Given the description of an element on the screen output the (x, y) to click on. 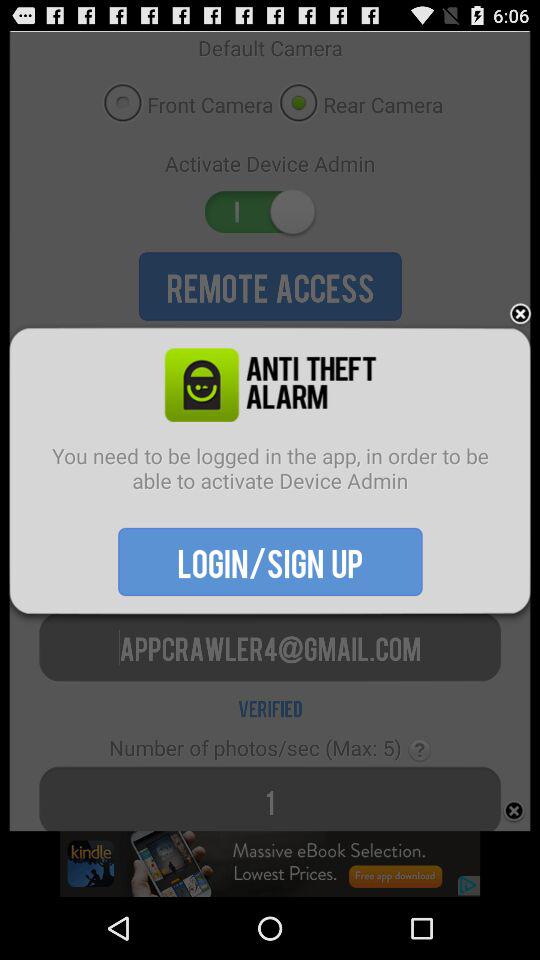
scroll to login/sign up button (270, 561)
